Given the description of an element on the screen output the (x, y) to click on. 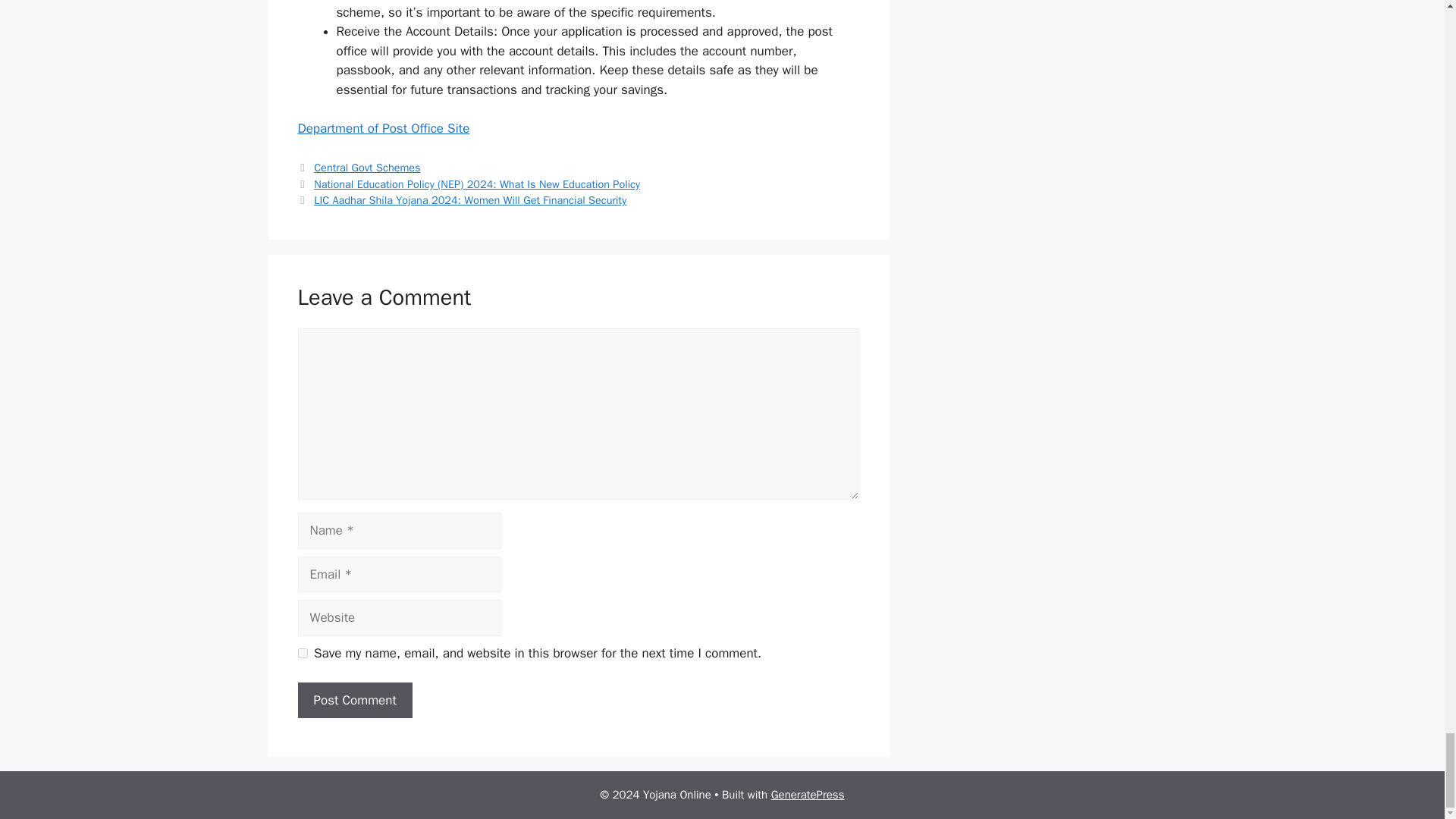
Post Comment (354, 700)
yes (302, 653)
Department of Post Office Site (382, 128)
